Given the description of an element on the screen output the (x, y) to click on. 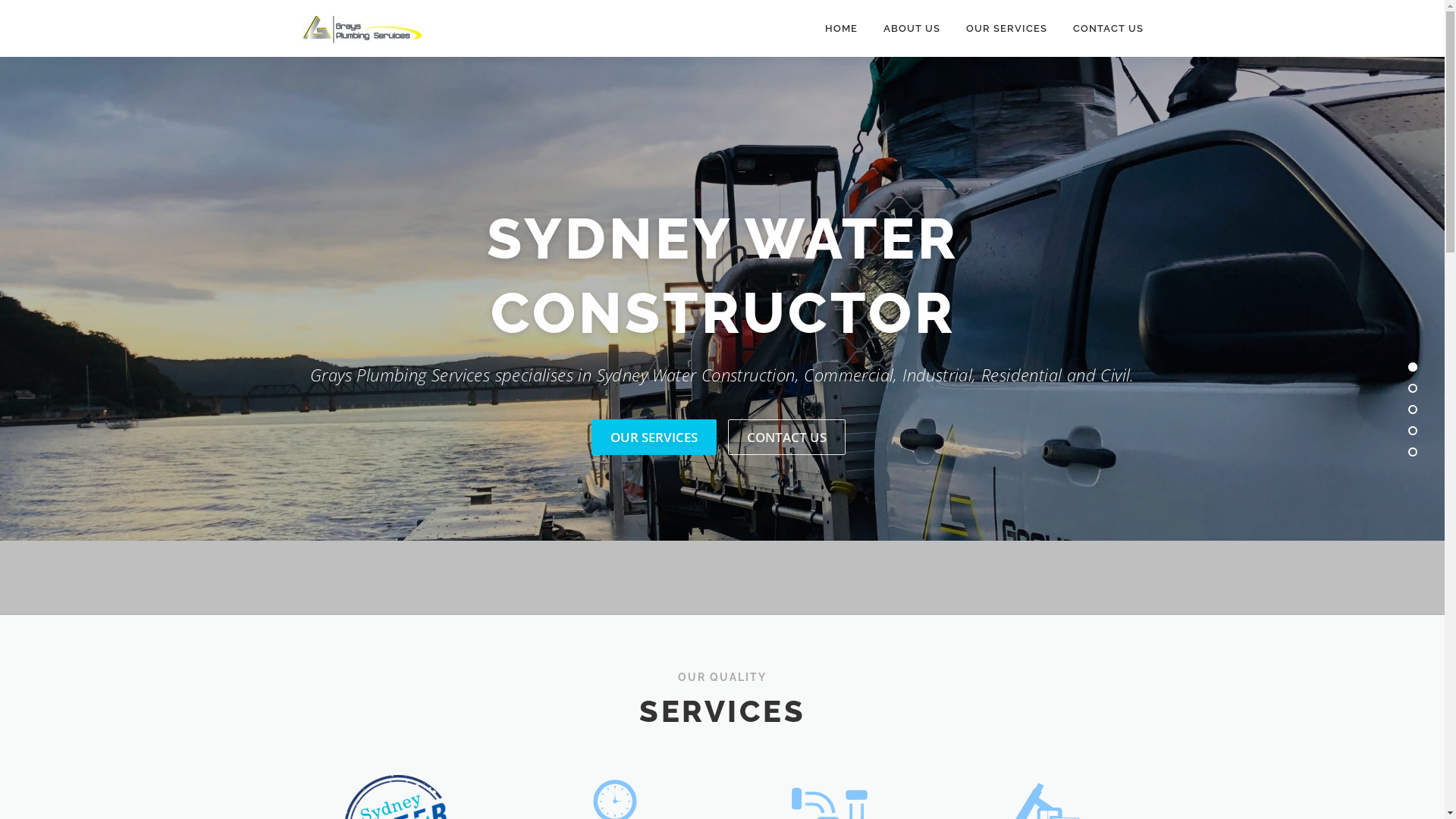
ABOUT US Element type: text (911, 28)
OUR SERVICES Element type: text (653, 437)
OUR SERVICES Element type: text (1005, 28)
HOME Element type: text (840, 28)
CONTACT US Element type: text (786, 437)
CONTACT US Element type: text (1101, 28)
